Given the description of an element on the screen output the (x, y) to click on. 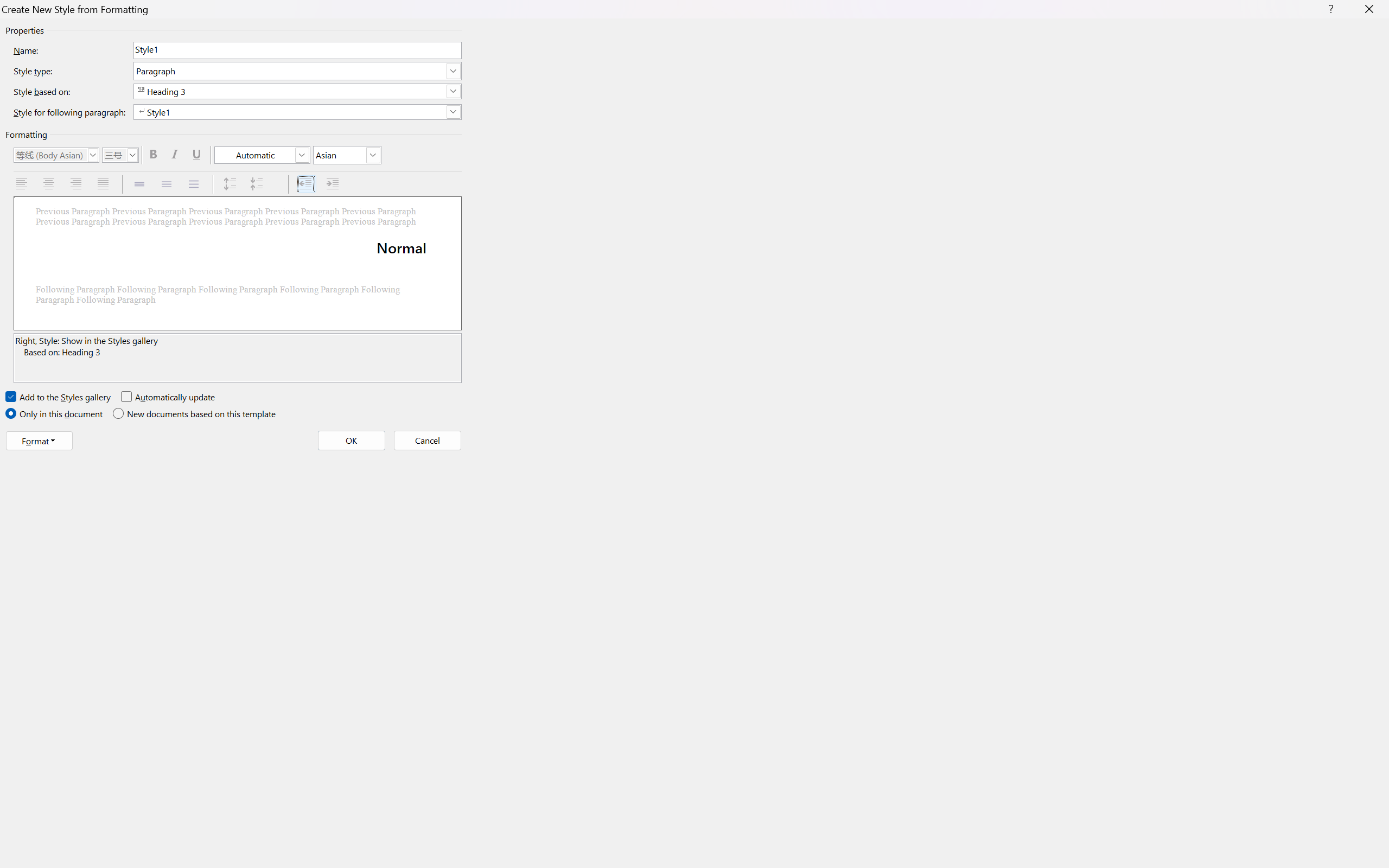
Automatically update (168, 396)
Decrease Paragraph Spacing (258, 183)
Cancel (427, 440)
Bold (154, 154)
Italic (176, 154)
Decrease Indent (306, 183)
1.5 Spacing (167, 183)
Only in this document (54, 413)
Style for following paragraph: (297, 111)
Style based on: (297, 90)
Align Left (22, 183)
Add to the Styles gallery (58, 396)
Align Right (77, 183)
